Given the description of an element on the screen output the (x, y) to click on. 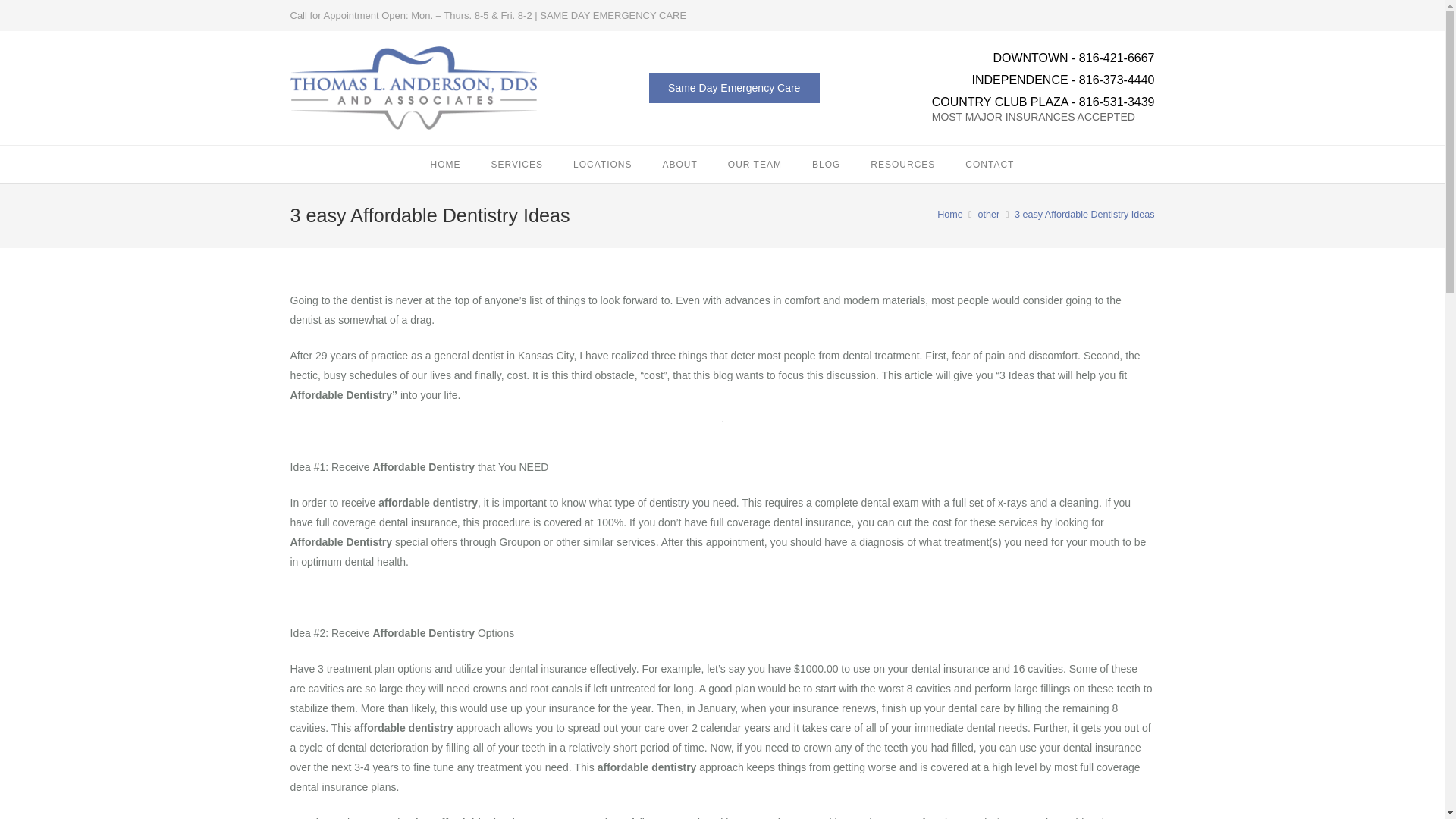
816-373-4440 (1116, 79)
816-421-6667 (1116, 57)
HOME (445, 164)
OUR TEAM (754, 164)
LOCATIONS (601, 164)
SERVICES (516, 164)
ABOUT (678, 164)
Same Day Emergency Care (734, 87)
816-531-3439 (1116, 101)
